Given the description of an element on the screen output the (x, y) to click on. 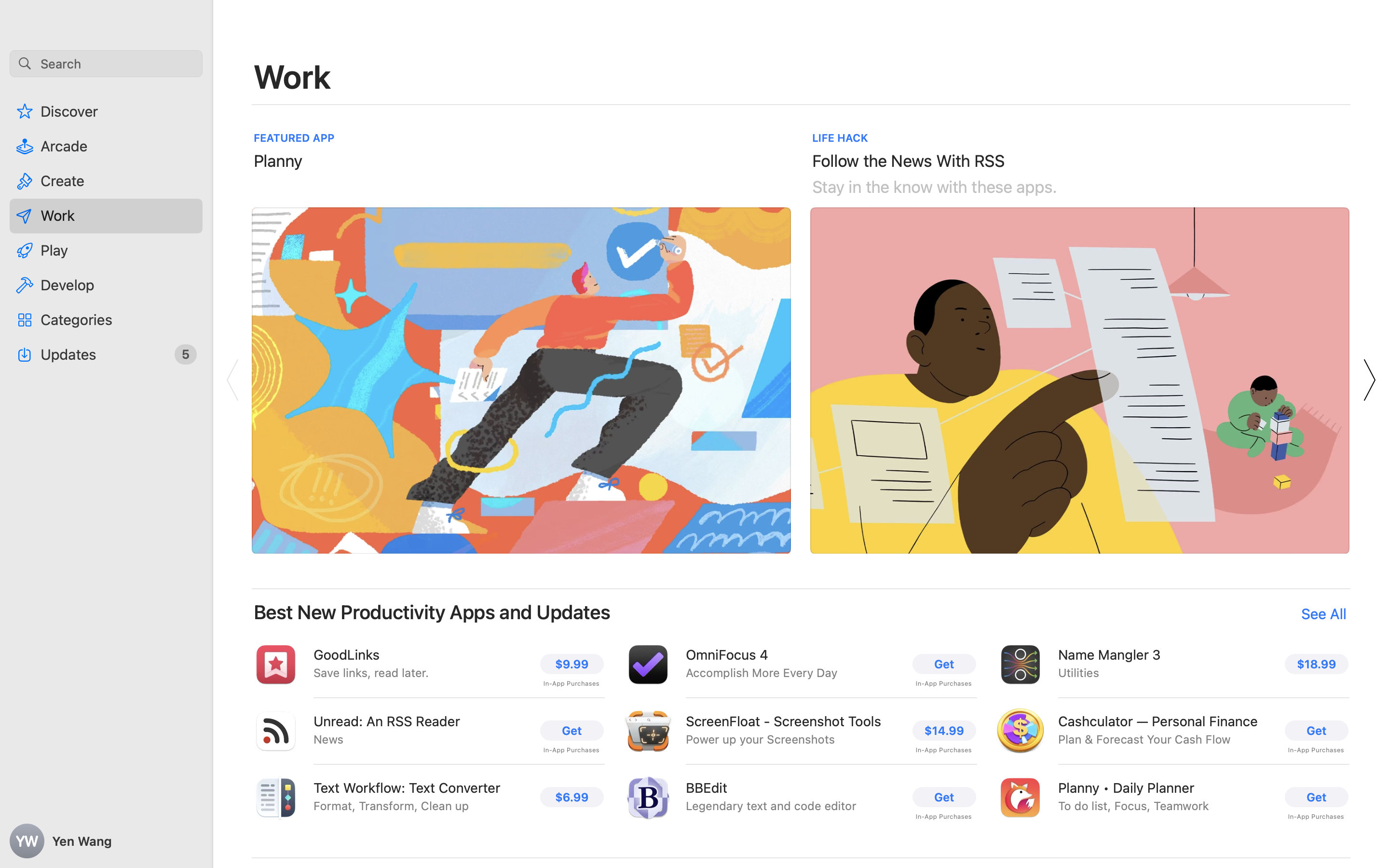
Work Element type: AXStaticText (292, 75)
Best New Productivity Apps and Updates Element type: AXStaticText (431, 611)
Yen Wang Element type: AXButton (106, 840)
